Given the description of an element on the screen output the (x, y) to click on. 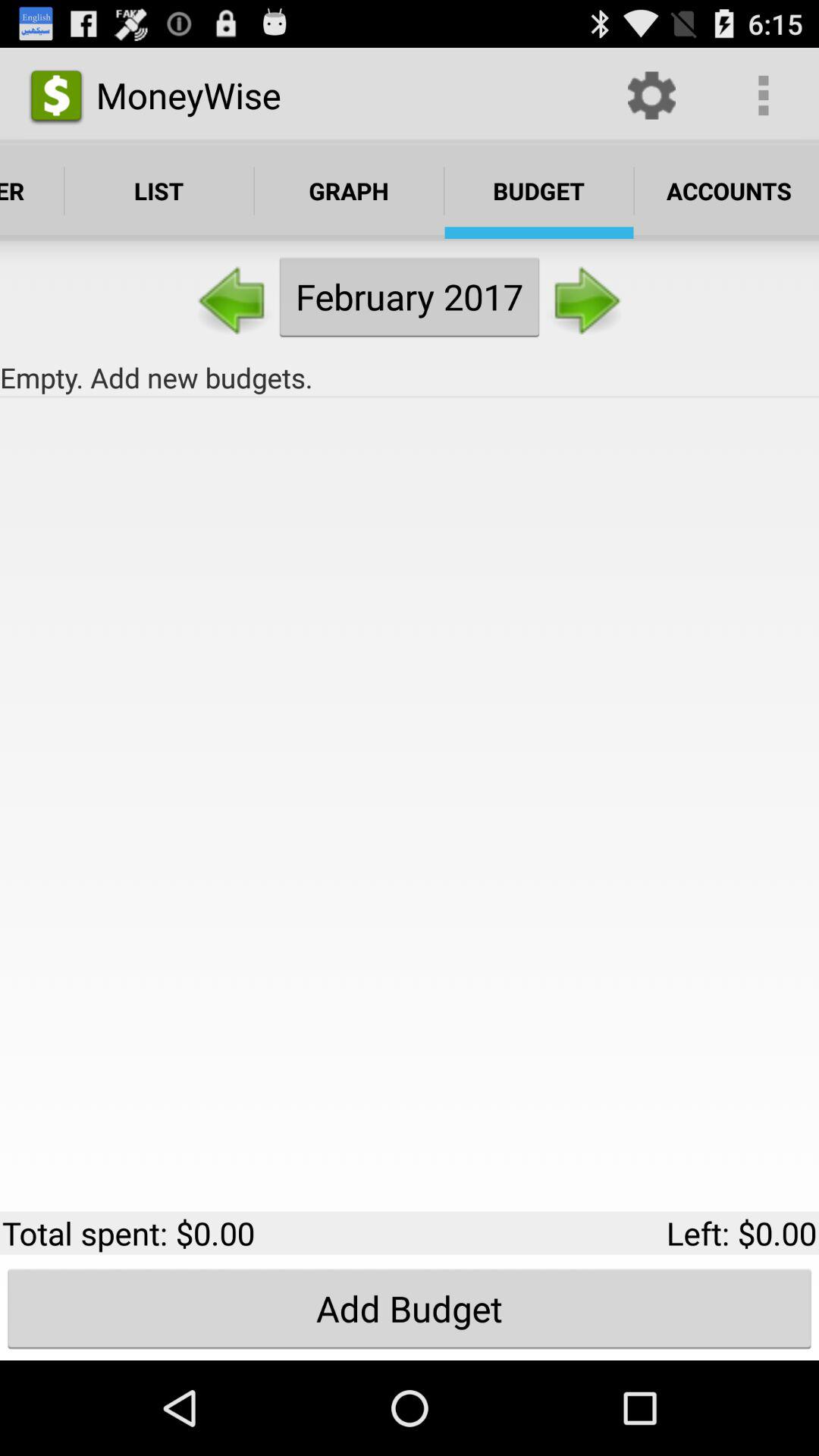
turn off empty add new app (409, 377)
